Given the description of an element on the screen output the (x, y) to click on. 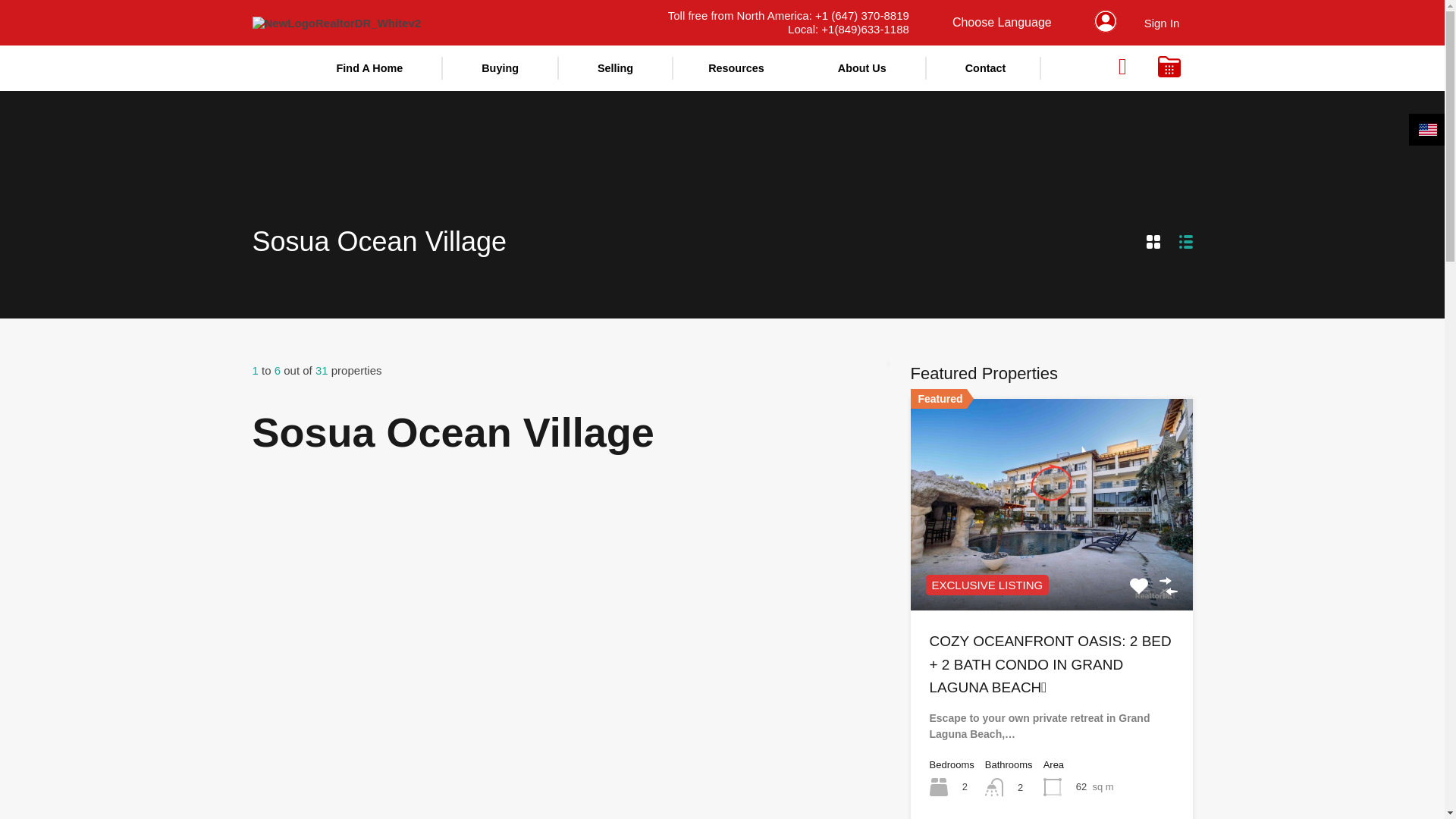
Sign In (1161, 23)
Selling (615, 68)
Find A Home (369, 68)
Buying (499, 68)
Choose Language (1002, 22)
